Given the description of an element on the screen output the (x, y) to click on. 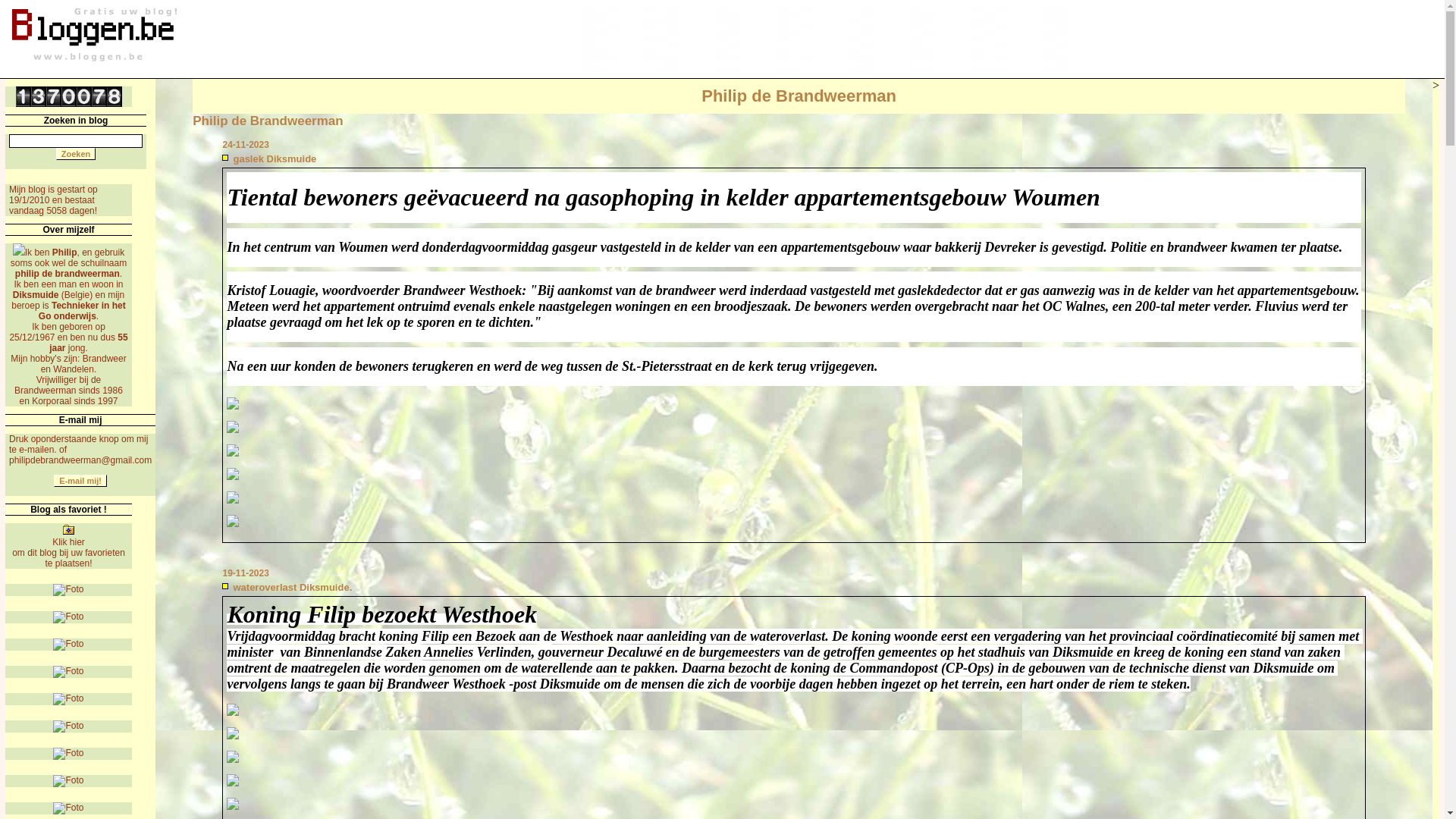
3rd party ad content Element type: hover (825, 37)
Klik hier
om dit blog bij uw favorieten te plaatsen! Element type: text (68, 548)
E-mail mij! Element type: text (79, 480)
Zoeken Element type: text (76, 153)
